Given the description of an element on the screen output the (x, y) to click on. 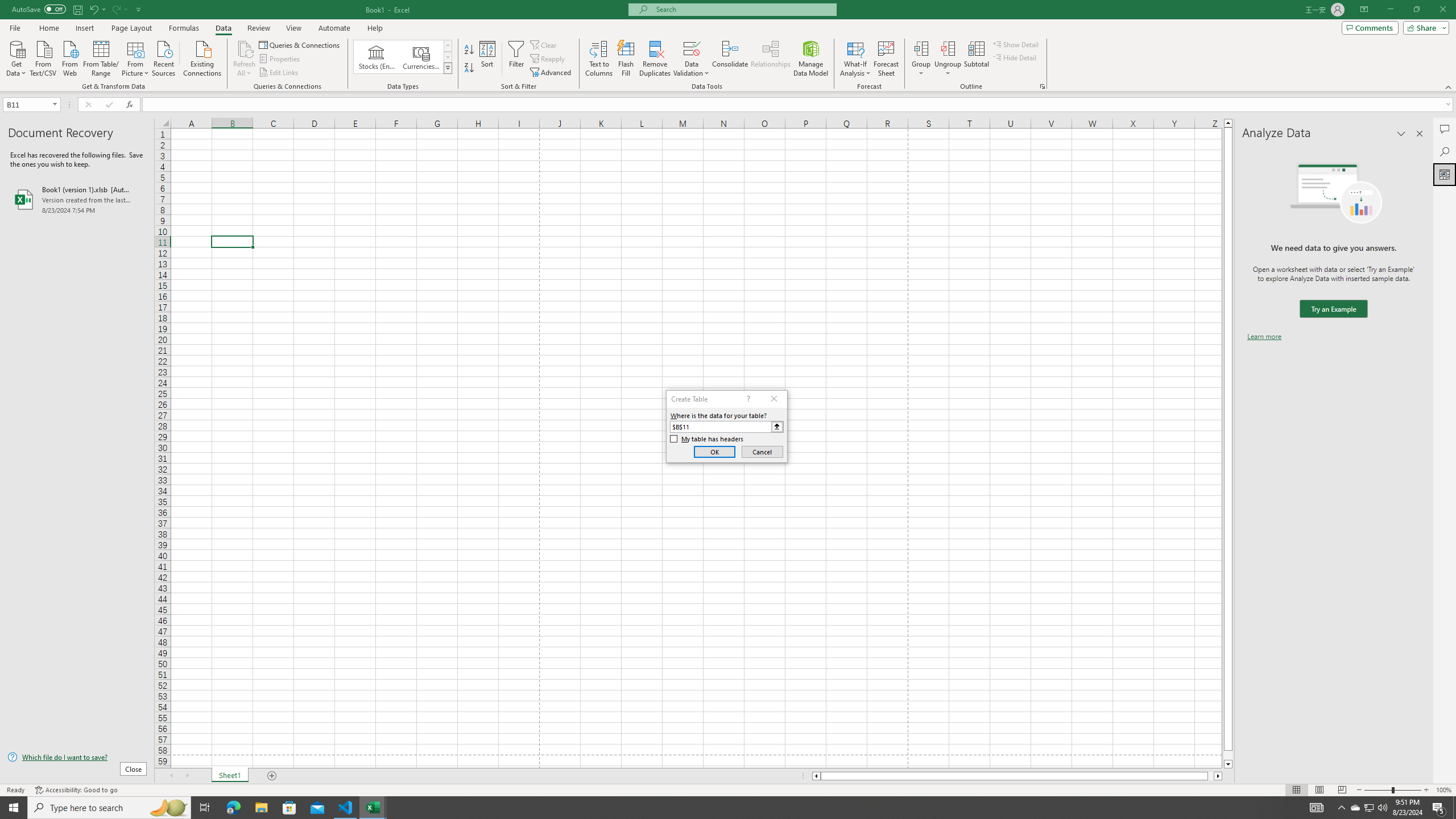
Which file do I want to save? (77, 757)
Data Types (448, 67)
Comments (1444, 128)
Zoom (1392, 790)
Zoom In (1426, 790)
Close pane (1419, 133)
Sort Z to A (469, 67)
Microsoft search (742, 9)
Relationships (770, 58)
AutoSave (38, 9)
Scroll Left (171, 775)
Class: NetUIScrollBar (1016, 775)
Column right (1218, 775)
Normal (1296, 790)
